Given the description of an element on the screen output the (x, y) to click on. 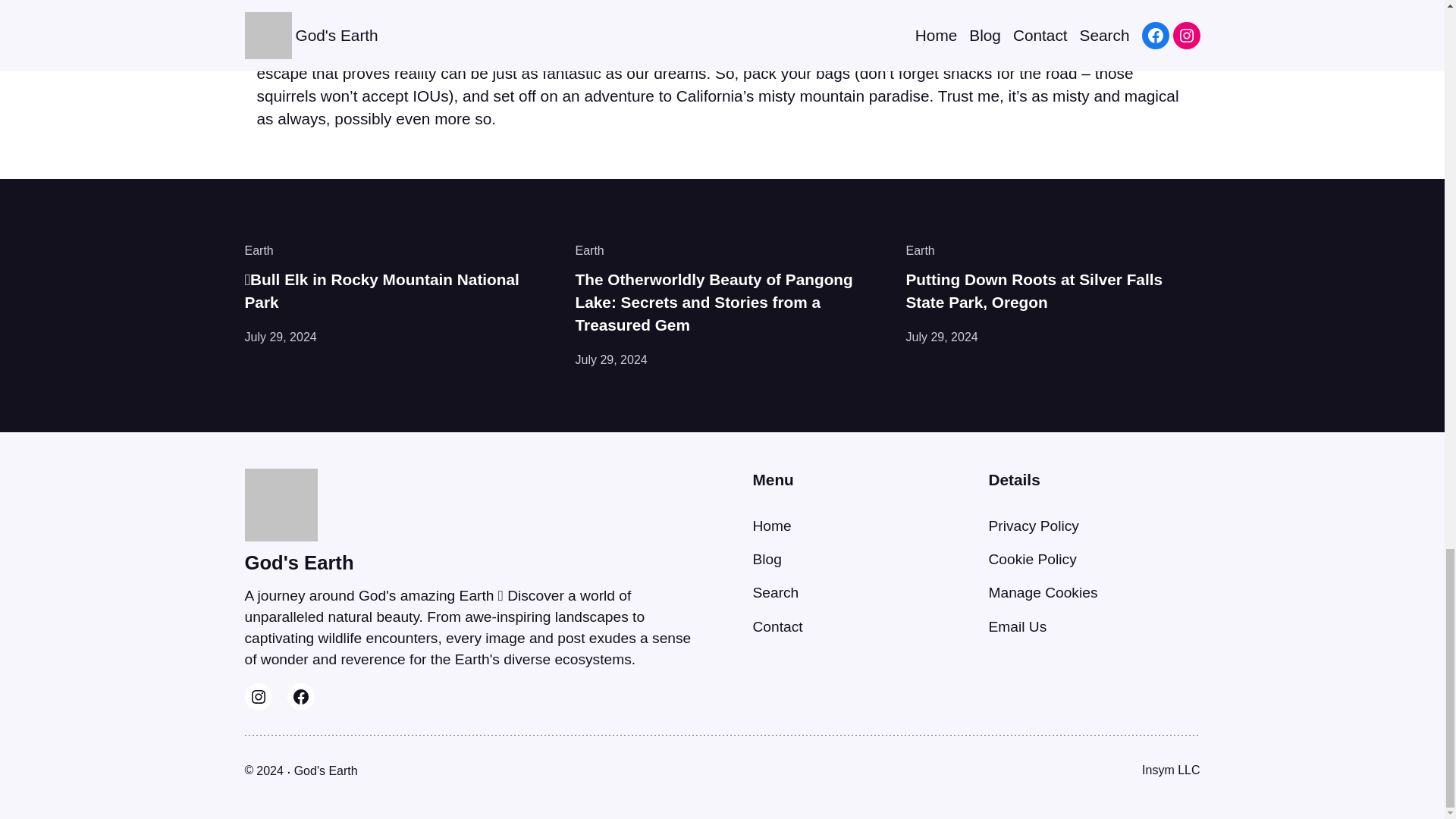
Earth (919, 250)
Contact (777, 626)
Earth (258, 250)
Manage Cookies (1042, 592)
Search (774, 592)
Instagram (257, 696)
Cookie Policy (1032, 559)
Earth (589, 250)
Email Us (1017, 626)
Blog (766, 559)
Insym LLC (1170, 769)
God's Earth (326, 770)
Putting Down Roots at Silver Falls State Park, Oregon (1052, 290)
Home (771, 525)
Facebook (300, 696)
